Given the description of an element on the screen output the (x, y) to click on. 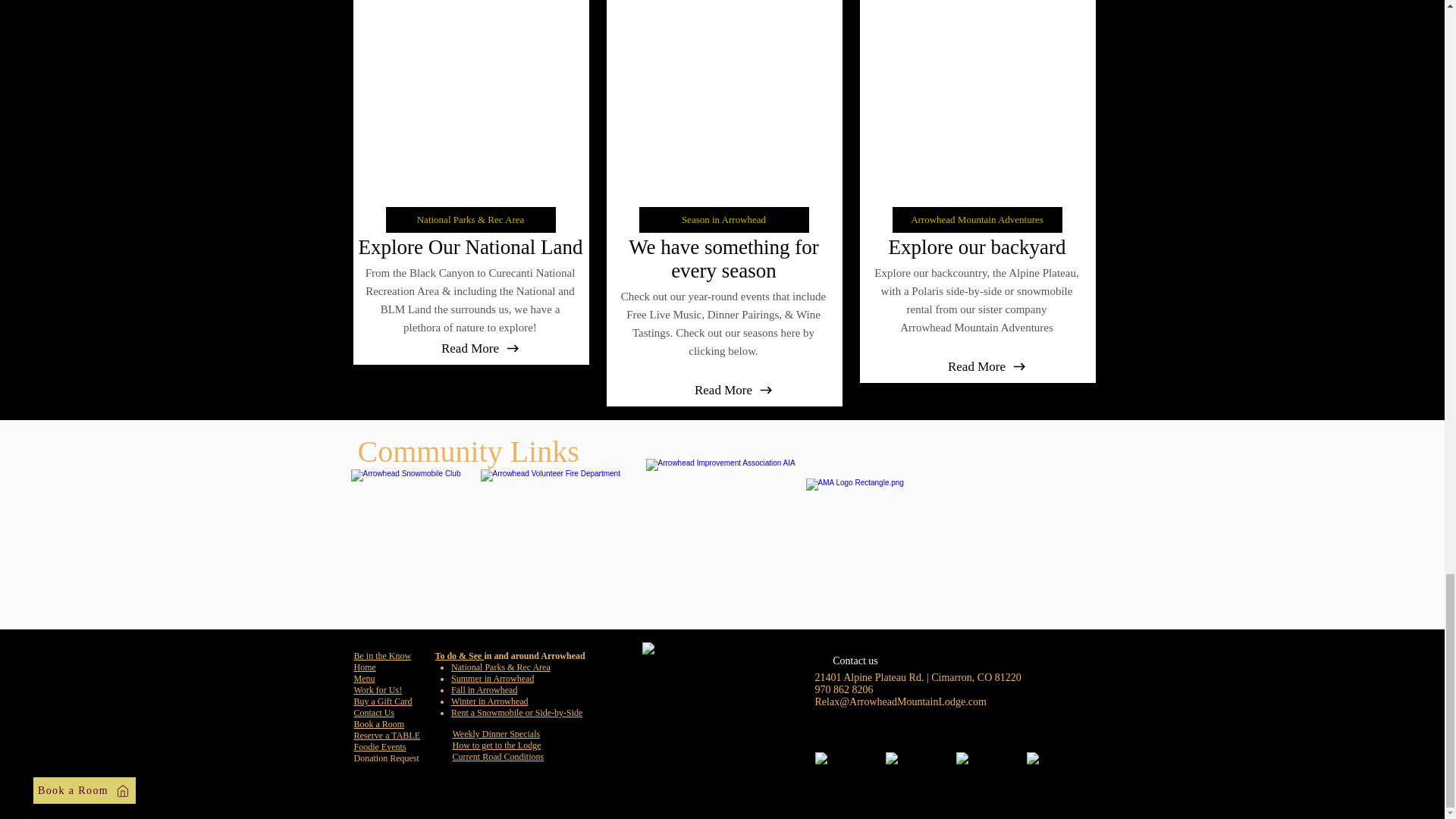
Read More (976, 366)
Read More (723, 390)
Read More (470, 348)
Season in Arrowhead (723, 219)
Arrowhead Mountain Adventures (976, 219)
